Given the description of an element on the screen output the (x, y) to click on. 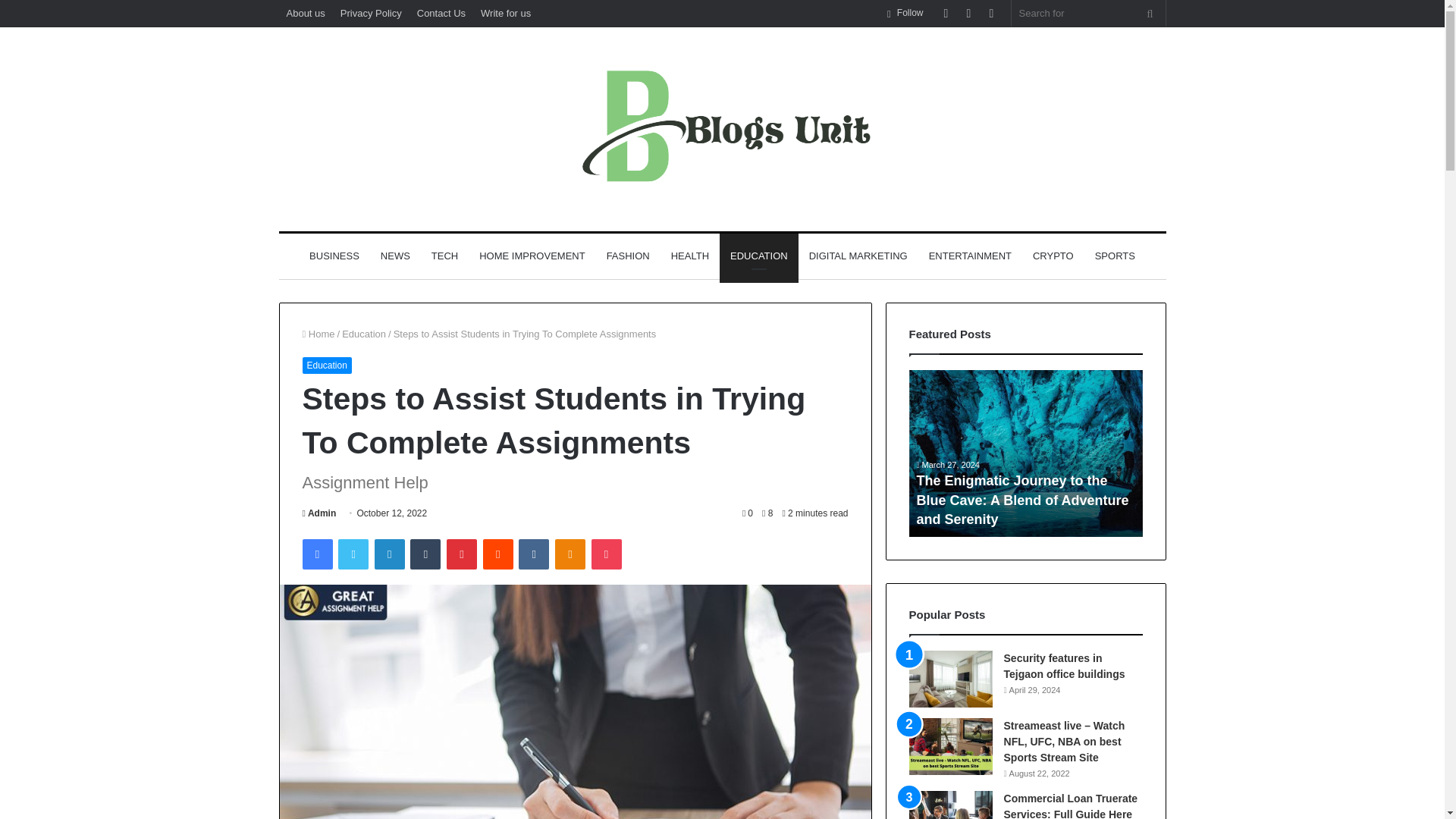
Pinterest (461, 553)
Follow (905, 13)
DIGITAL MARKETING (857, 256)
FASHION (628, 256)
Reddit (498, 553)
TECH (444, 256)
Reddit (498, 553)
Pinterest (461, 553)
SPORTS (1114, 256)
Write for us (505, 13)
LinkedIn (389, 553)
HOME IMPROVEMENT (531, 256)
NEWS (394, 256)
LinkedIn (389, 553)
Pocket (606, 553)
